Given the description of an element on the screen output the (x, y) to click on. 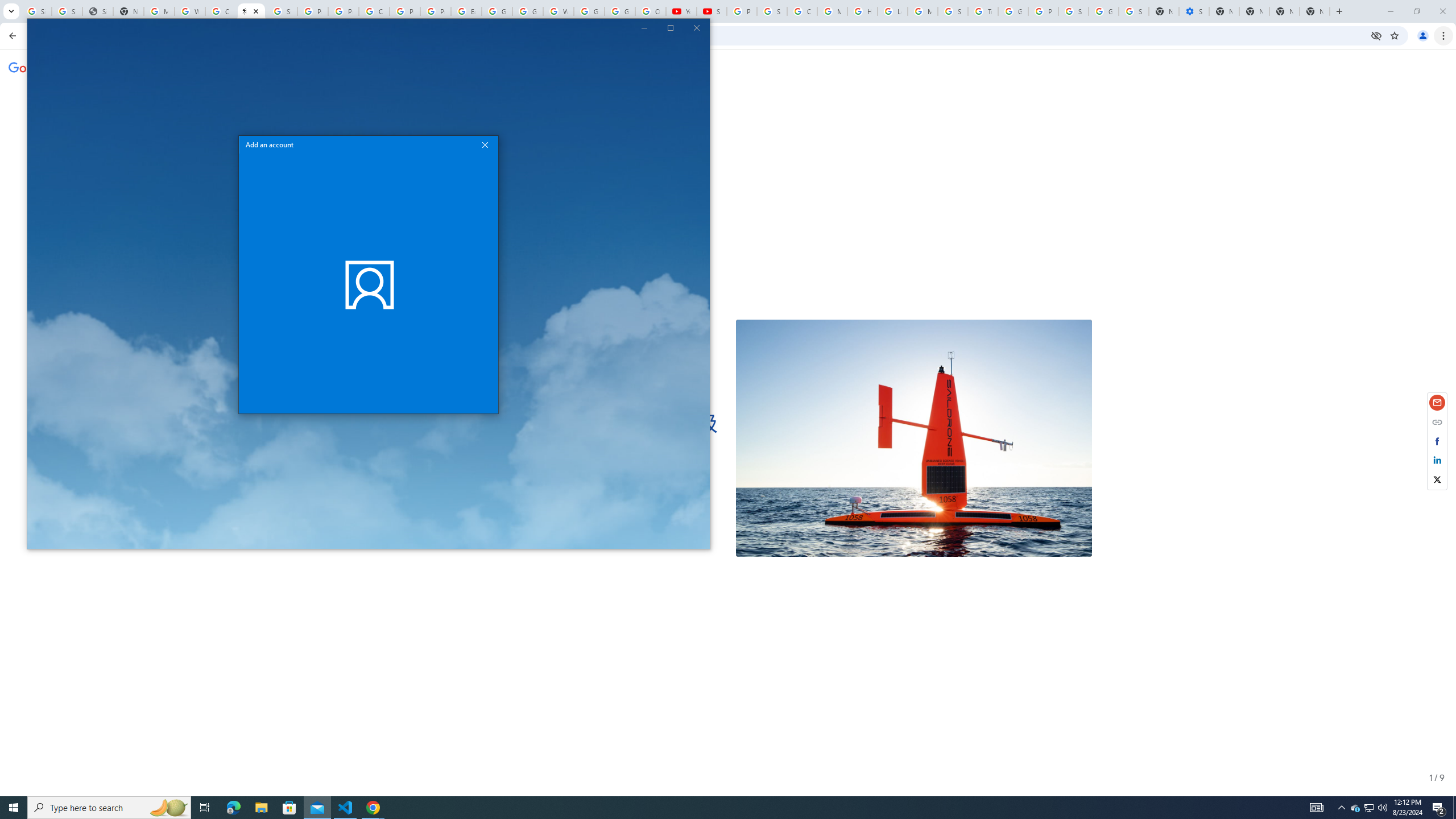
Type here to search (108, 807)
Maximize Mail (1355, 807)
Close Mail (671, 27)
Task View (697, 27)
User Promoted Notification Area (204, 807)
Close Add an account (1368, 807)
Show desktop (484, 144)
Running applications (1454, 807)
Search highlights icon opens search home window (717, 807)
Visual Studio Code - 1 running window (167, 807)
Microsoft Store (345, 807)
Google Chrome - 2 running windows (1368, 807)
File Explorer (289, 807)
